Given the description of an element on the screen output the (x, y) to click on. 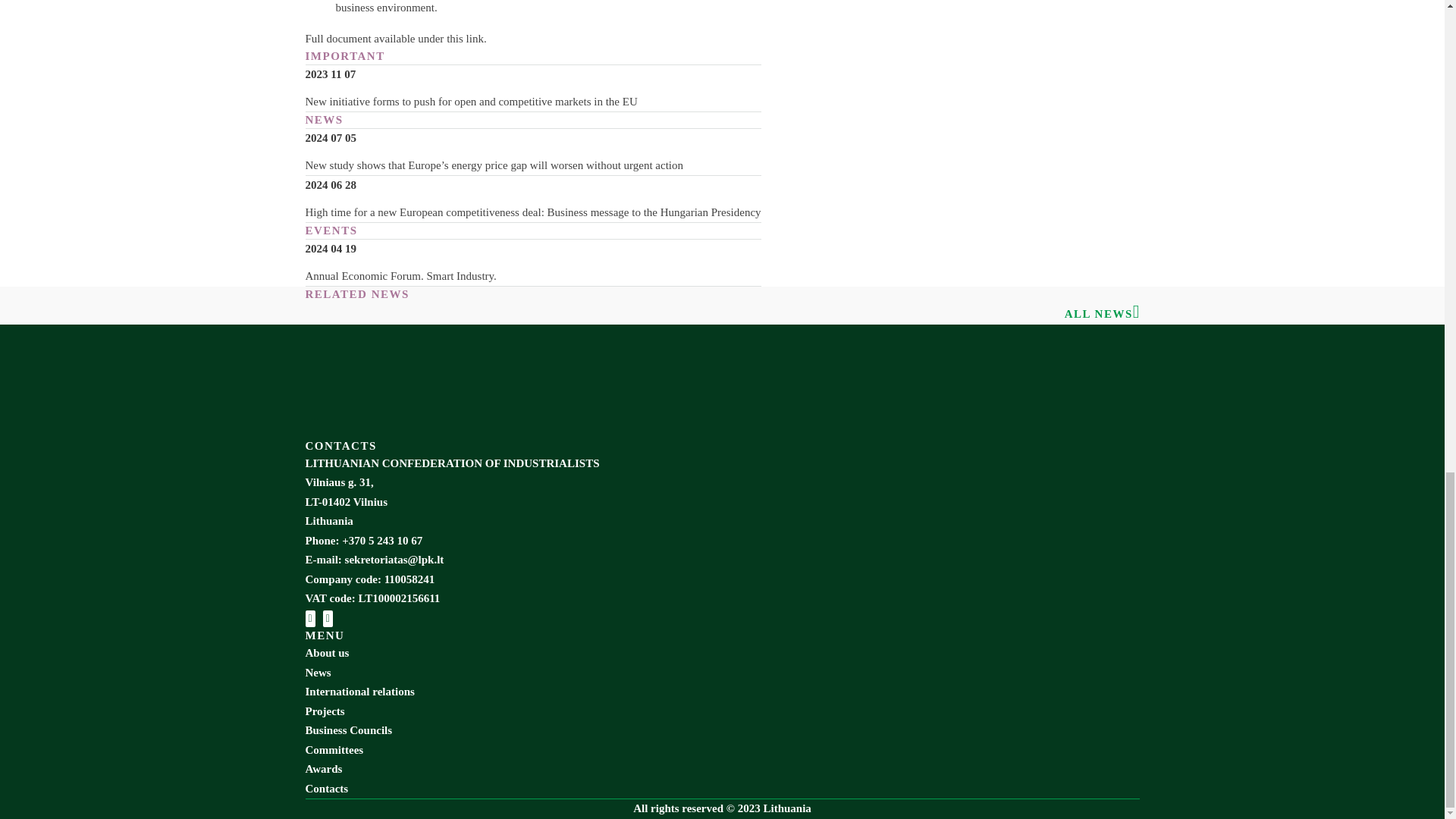
this link (464, 38)
ALL NEWS (1098, 313)
Annual Economic Forum. Smart Industry. (532, 276)
